Given the description of an element on the screen output the (x, y) to click on. 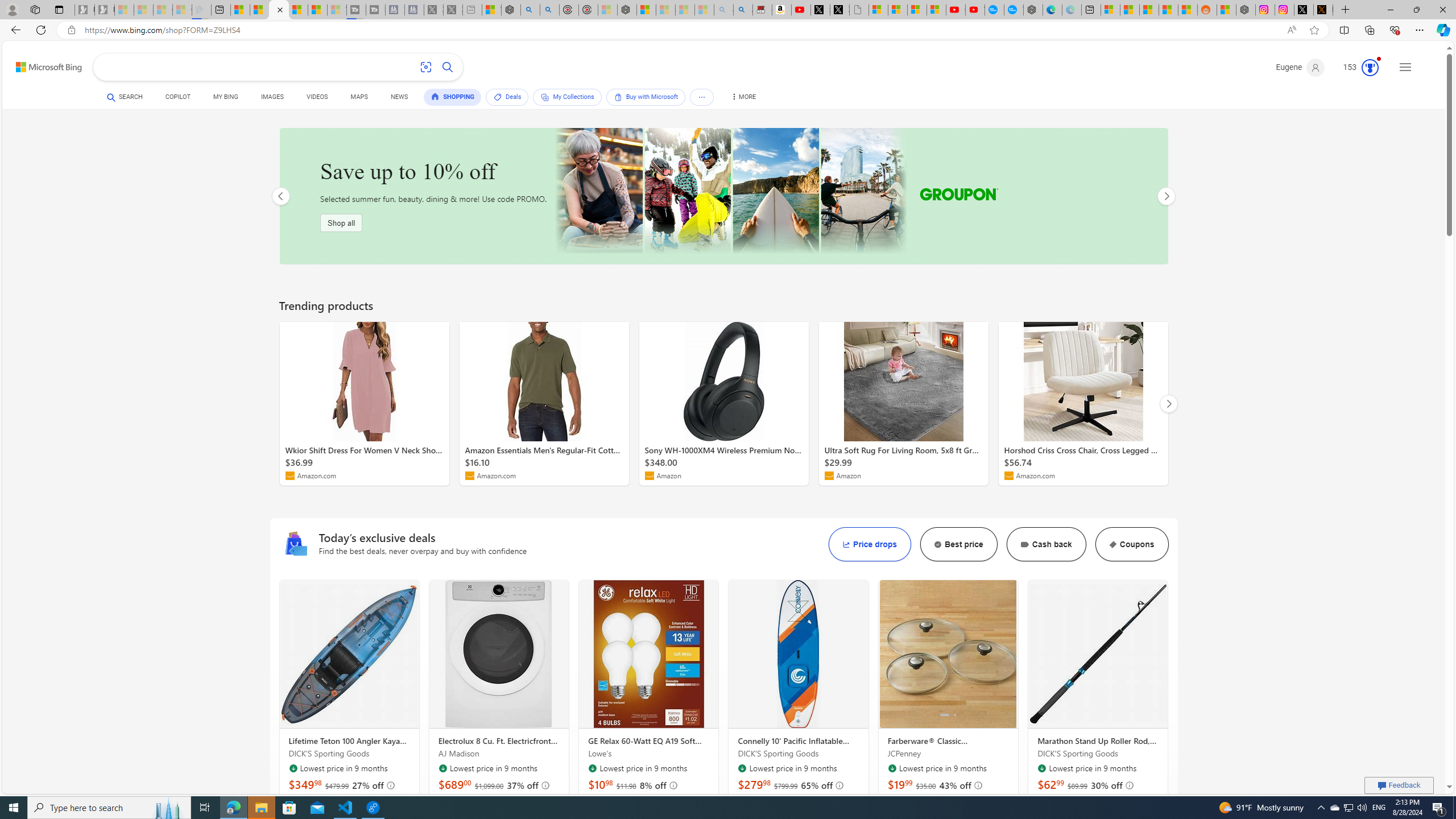
X - Sleeping (452, 9)
Search using an image (426, 66)
Nordace - Summer Adventures 2024 (1245, 9)
Close tab (280, 9)
Minimize (1390, 9)
SHOPPING (452, 96)
Search button (447, 66)
Electrolux 8 Cu. Ft. Electricfront Load Dryer EFDE317TIW (499, 653)
New tab (1090, 9)
